Given the description of an element on the screen output the (x, y) to click on. 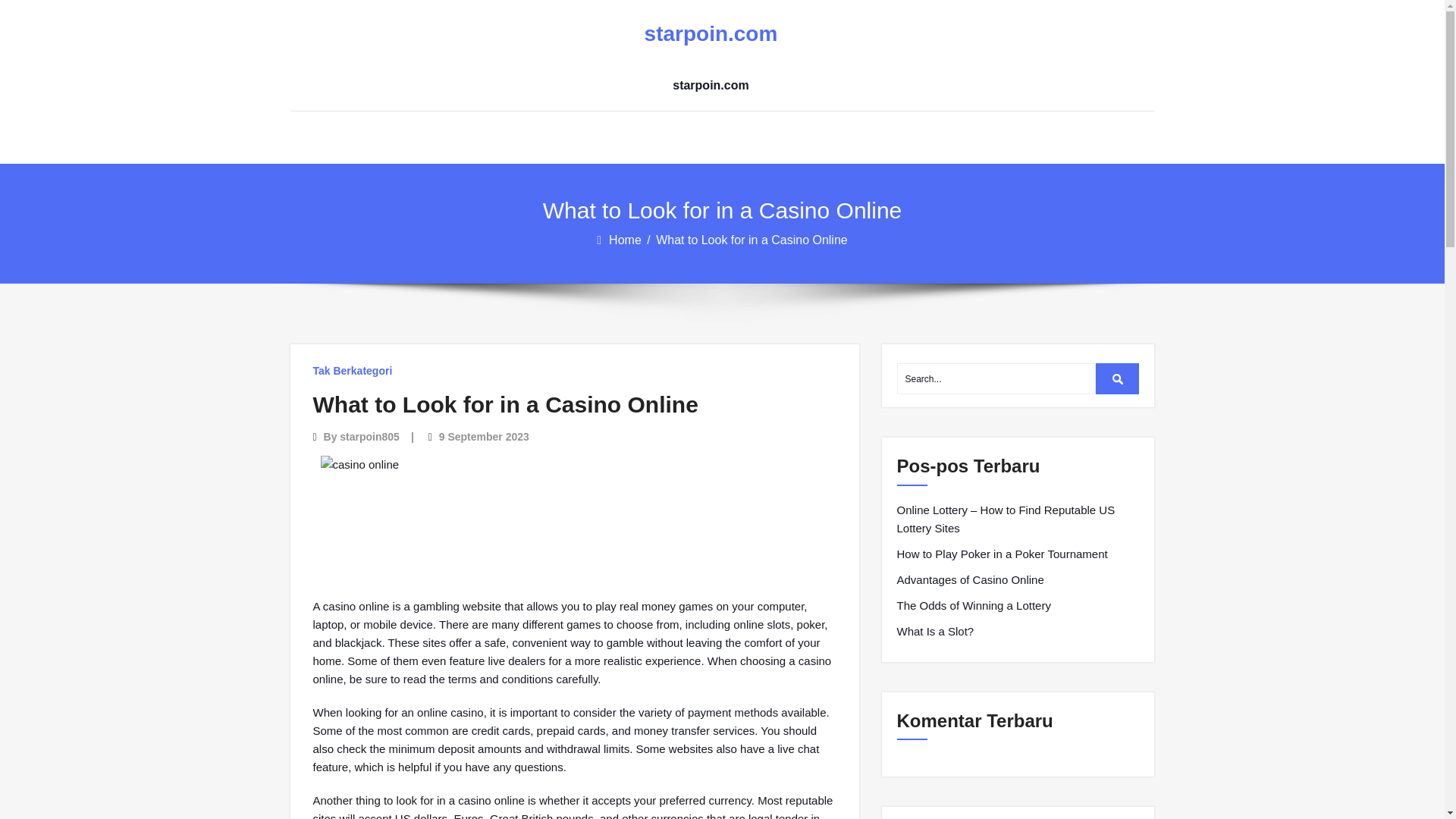
starpoin.com (710, 34)
Search (1118, 378)
What Is a Slot? (935, 631)
Search (1118, 378)
Home (625, 239)
The Odds of Winning a Lottery (972, 606)
starpoin805 (368, 436)
How to Play Poker in a Poker Tournament (1001, 554)
9 September 2023 (484, 436)
Advantages of Casino Online (969, 579)
